Given the description of an element on the screen output the (x, y) to click on. 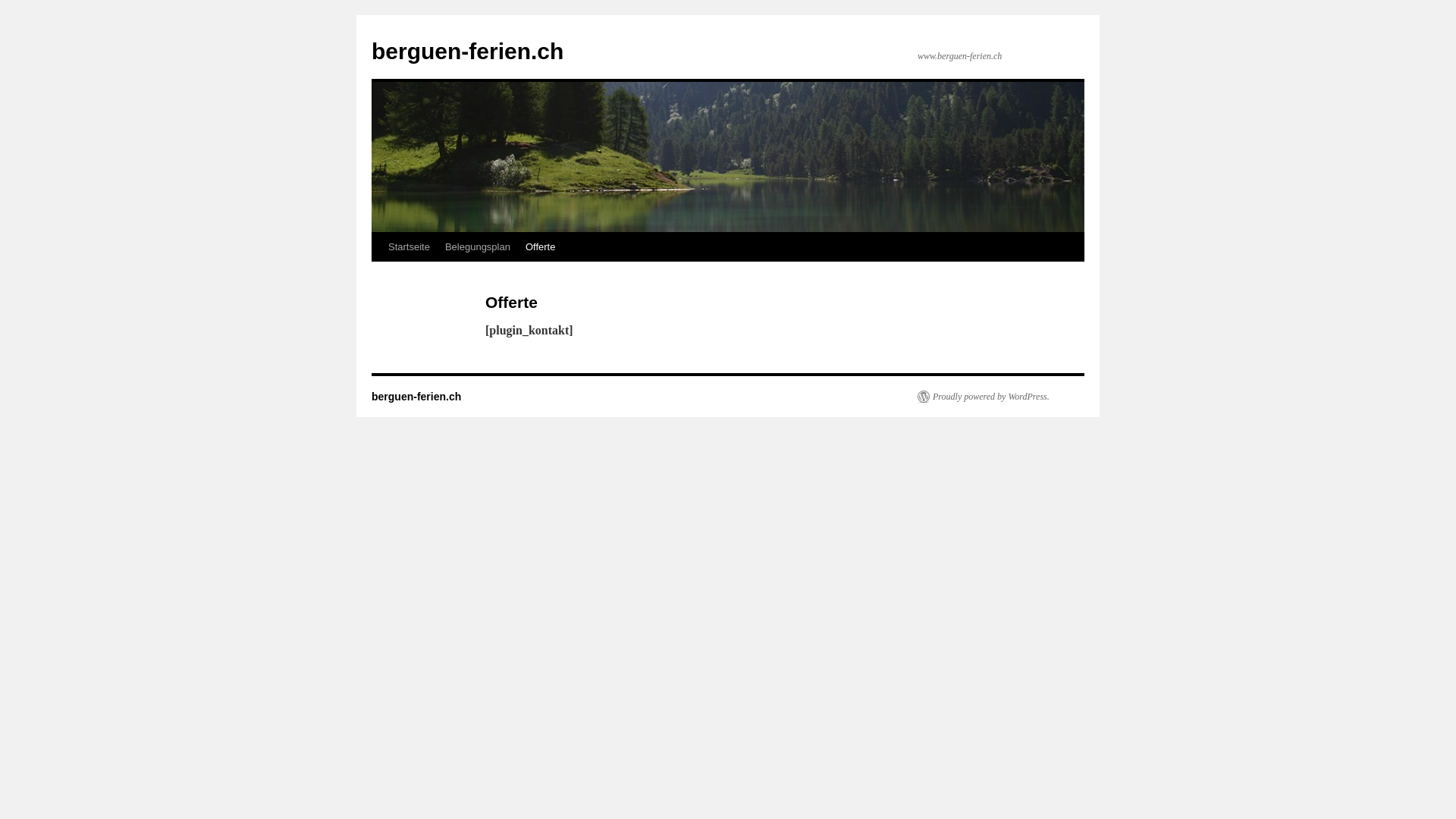
Startseite Element type: text (408, 246)
berguen-ferien.ch Element type: text (416, 396)
Proudly powered by WordPress. Element type: text (983, 396)
Belegungsplan Element type: text (477, 246)
Zum Inhalt springen Element type: text (377, 275)
berguen-ferien.ch Element type: text (467, 50)
Offerte Element type: text (540, 246)
